Given the description of an element on the screen output the (x, y) to click on. 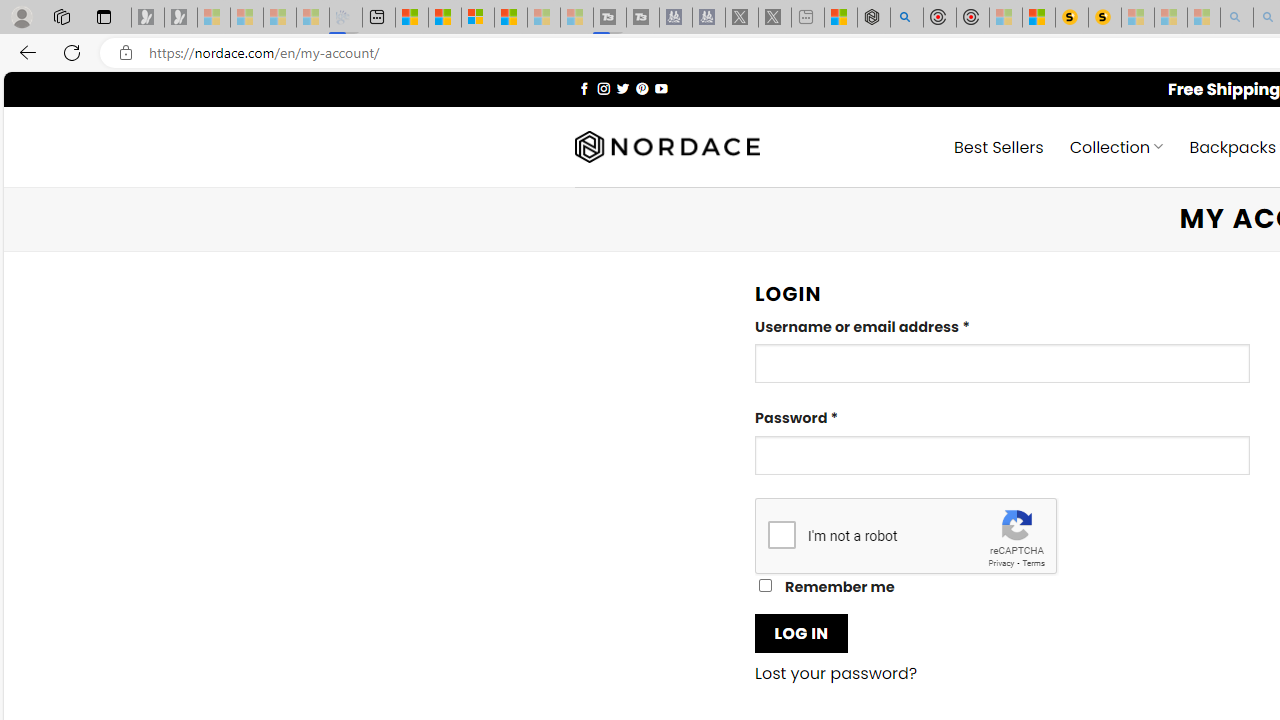
Lost your password? (836, 673)
New tab - Sleeping (808, 17)
Wildlife - MSN (841, 17)
Follow on Facebook (584, 88)
X - Sleeping (775, 17)
Newsletter Sign Up - Sleeping (181, 17)
